Given the description of an element on the screen output the (x, y) to click on. 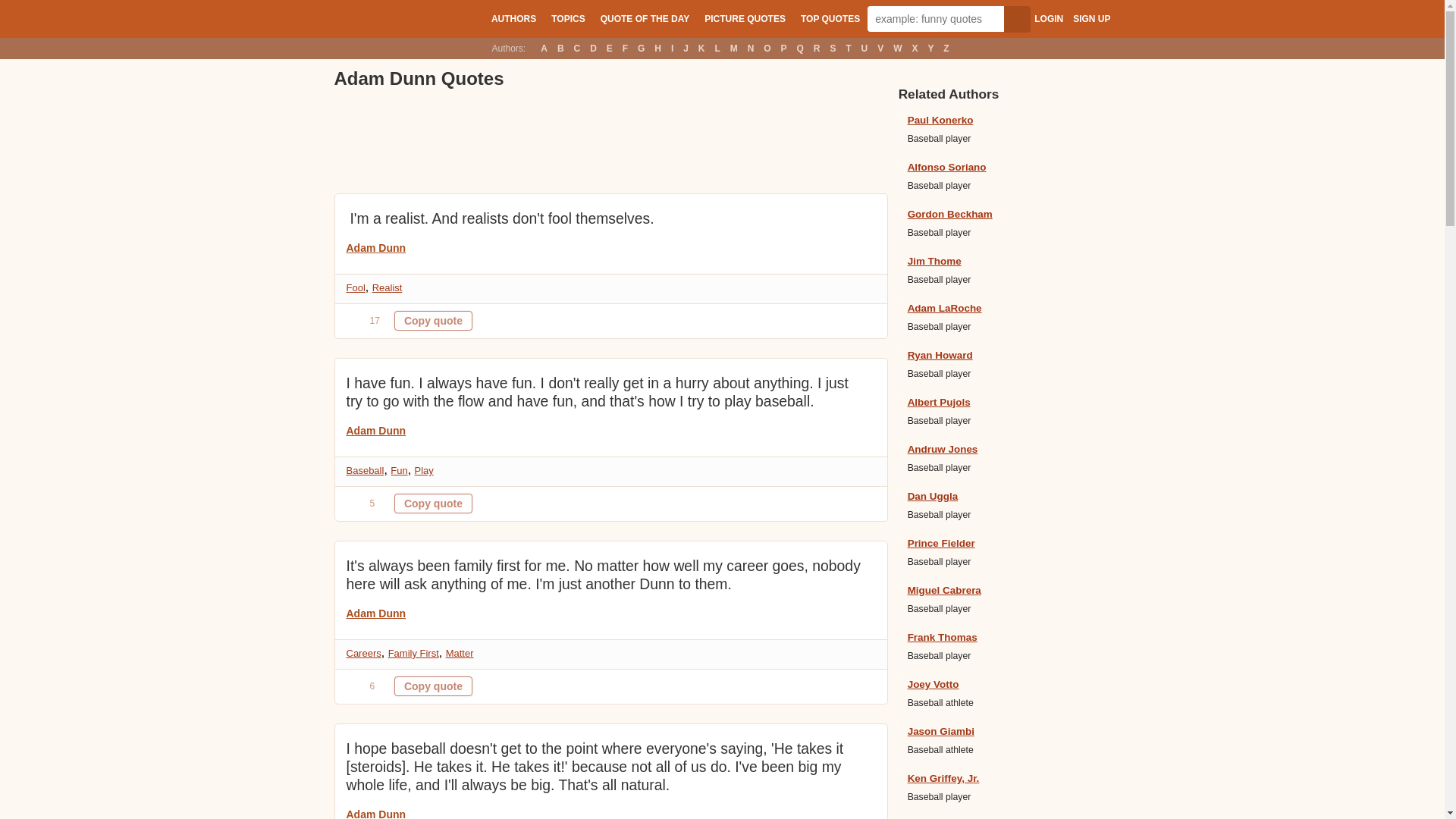
Quote is copied (432, 503)
TOPICS (567, 18)
Quote is copied (432, 320)
LOGIN (1047, 18)
PICTURE QUOTES (745, 18)
SIGN UP (1091, 18)
TOP QUOTES (830, 18)
AUTHORS (513, 18)
QUOTE OF THE DAY (644, 18)
Quote is copied (432, 686)
